Given the description of an element on the screen output the (x, y) to click on. 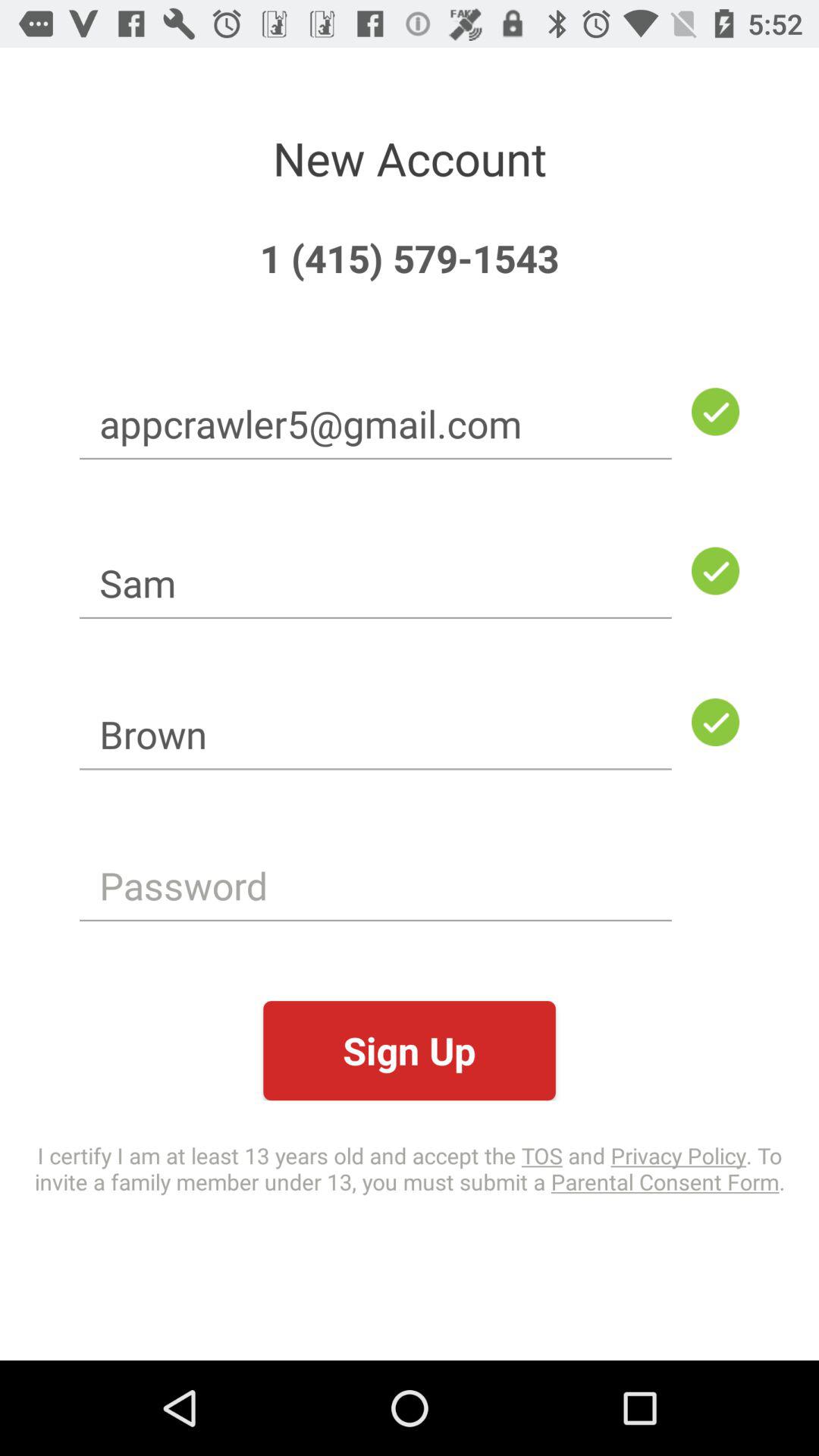
click the item below the sign up item (409, 1168)
